Given the description of an element on the screen output the (x, y) to click on. 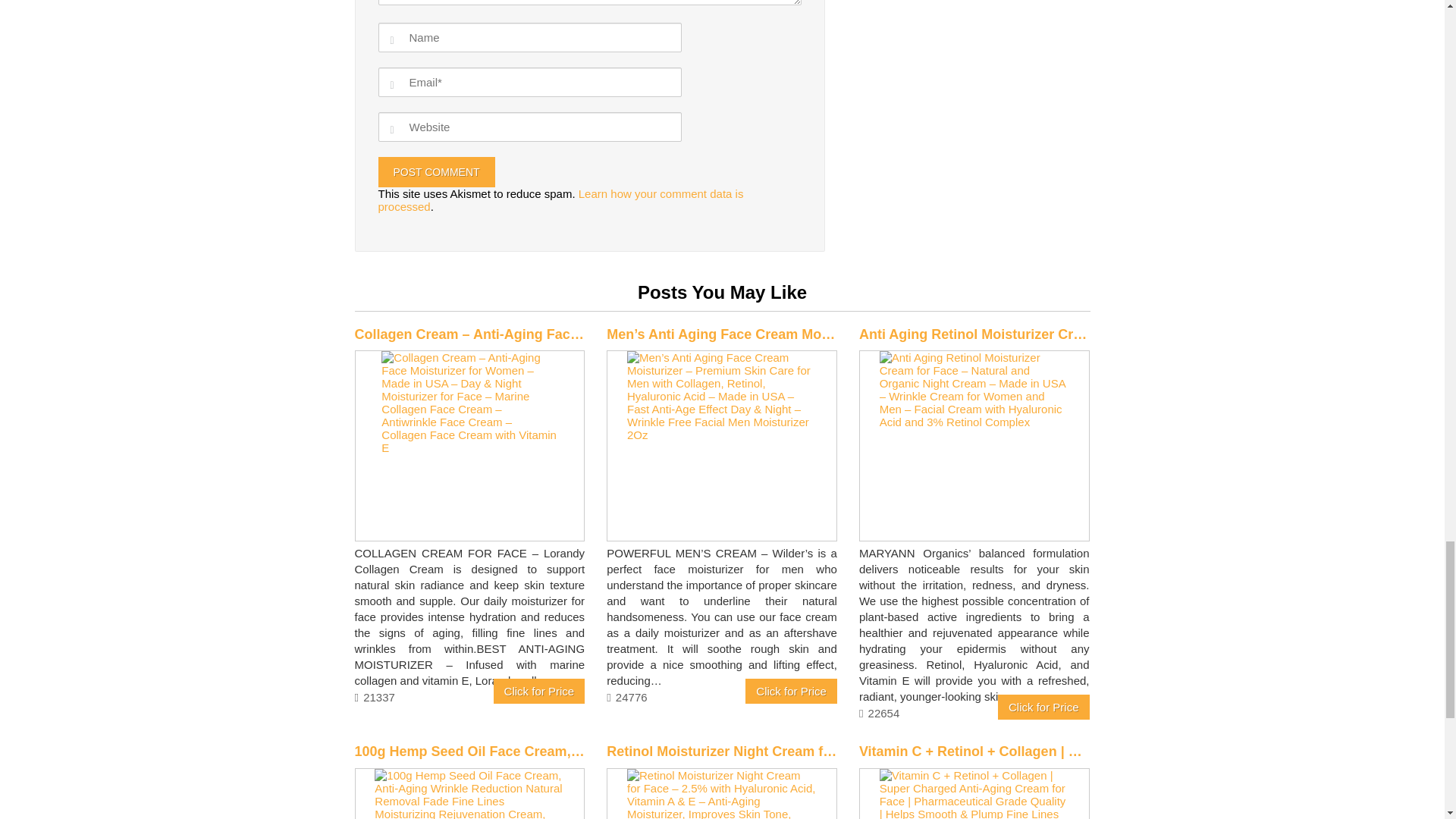
Post Comment (436, 171)
Post Comment (436, 171)
